Given the description of an element on the screen output the (x, y) to click on. 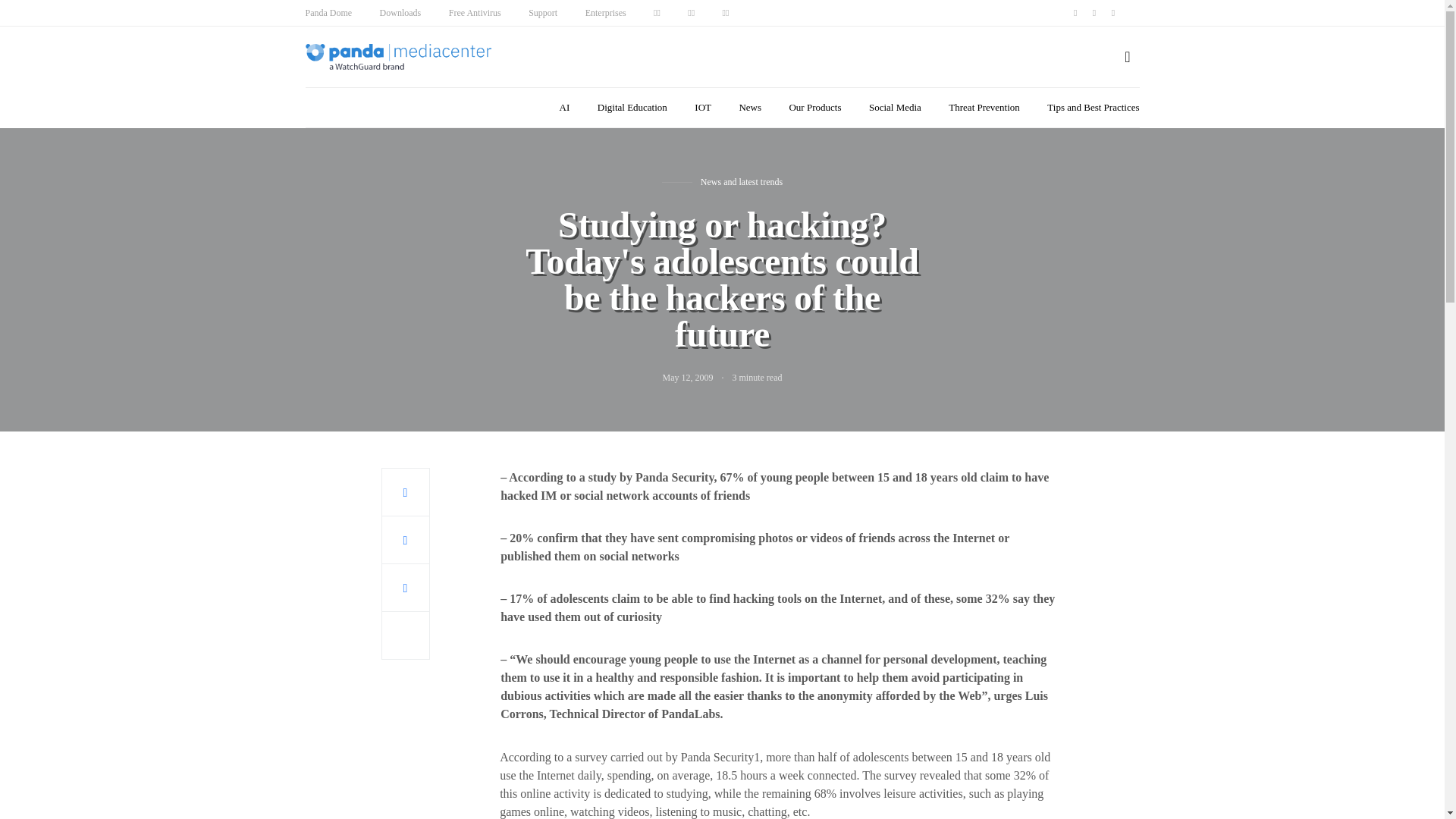
Support (542, 12)
Downloads (401, 12)
Our Products (815, 107)
Free Antivirus (474, 12)
Enterprises (605, 12)
News and latest trends (741, 181)
Tips and Best Practices (1092, 107)
Digital Education (631, 107)
Panda Dome (328, 12)
Social Media (895, 107)
